Given the description of an element on the screen output the (x, y) to click on. 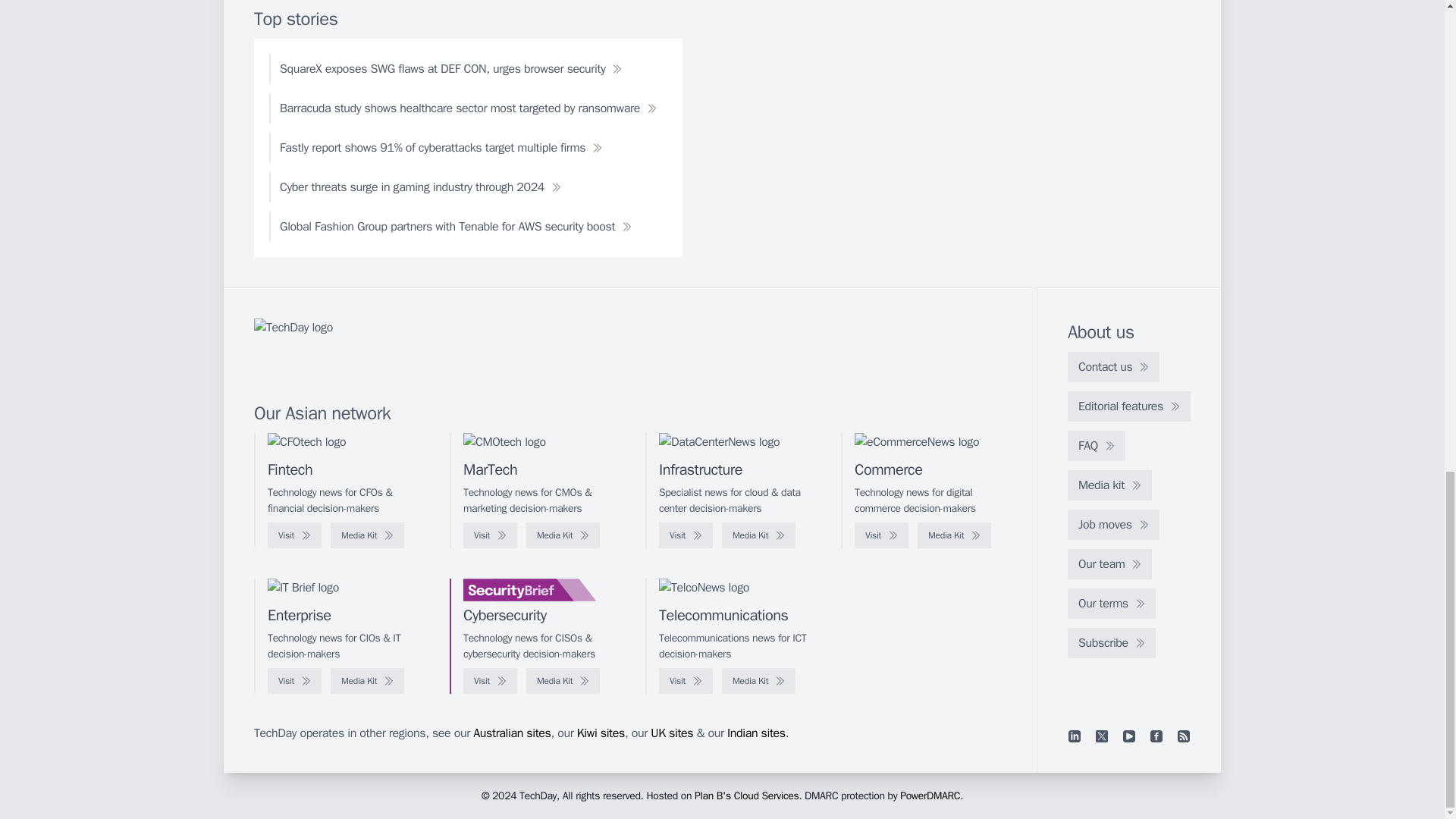
SquareX exposes SWG flaws at DEF CON, urges browser security (450, 69)
Media Kit (367, 534)
Visit (294, 534)
Media Kit (562, 534)
Media Kit (954, 534)
Visit (686, 534)
Visit (489, 534)
Visit (881, 534)
